Given the description of an element on the screen output the (x, y) to click on. 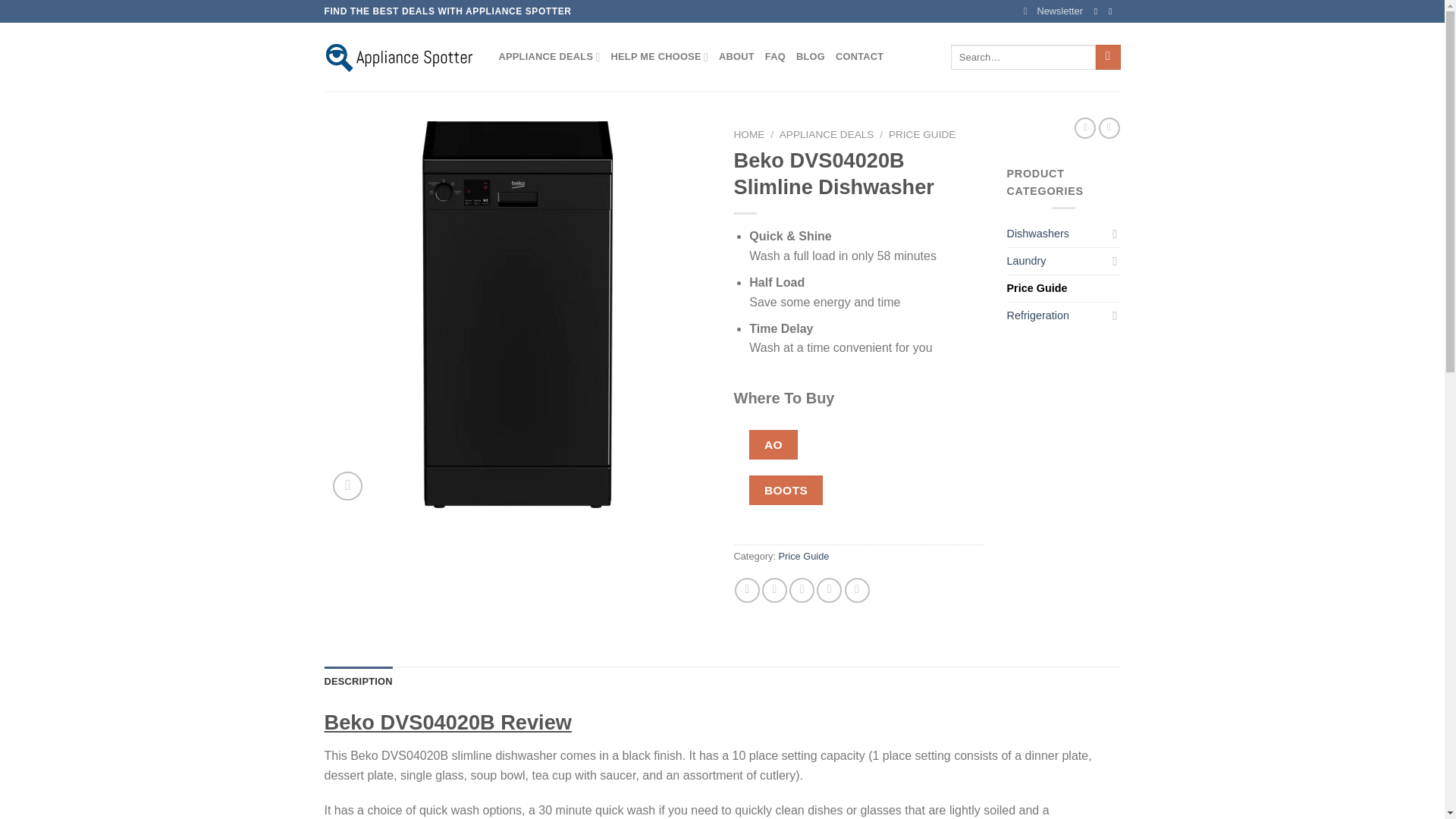
BOOTS (785, 490)
HOME (749, 134)
APPLIANCE DEALS (826, 134)
Search (1108, 57)
AO (772, 444)
BLOG (810, 56)
HELP ME CHOOSE (660, 56)
Appliance Spotter (400, 56)
APPLIANCE DEALS (549, 56)
PRICE GUIDE (921, 134)
CONTACT (859, 56)
Newsletter (1053, 11)
ABOUT (736, 56)
